Given the description of an element on the screen output the (x, y) to click on. 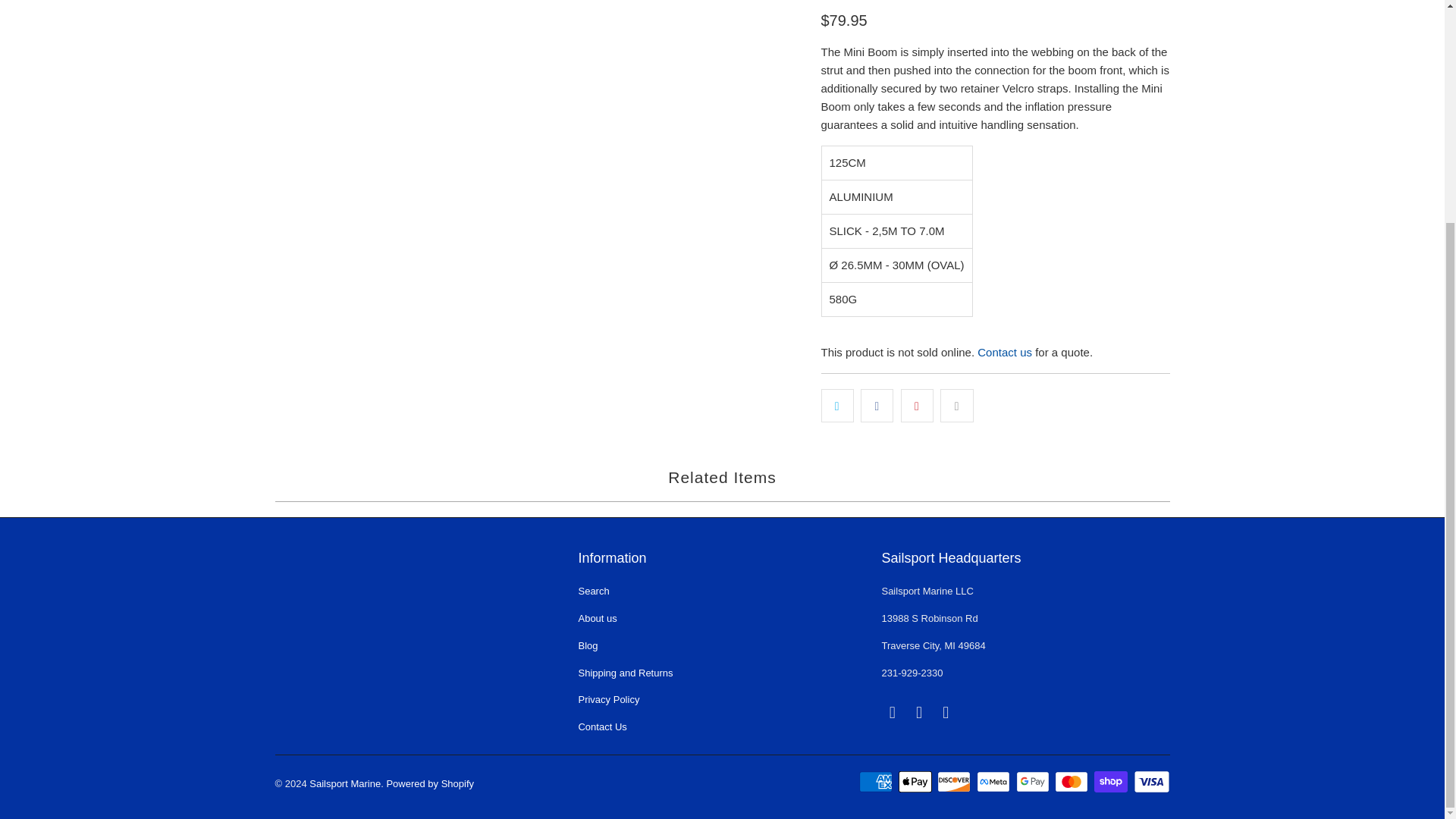
American Express (877, 781)
Visa (1150, 781)
Sailsport Marine on Facebook (919, 712)
Share this on Twitter (837, 405)
Share this on Facebook (876, 405)
Discover (955, 781)
Shop Pay (1112, 781)
Sailsport Marine on Instagram (946, 712)
Share this on Pinterest (917, 405)
Google Pay (1034, 781)
